Given the description of an element on the screen output the (x, y) to click on. 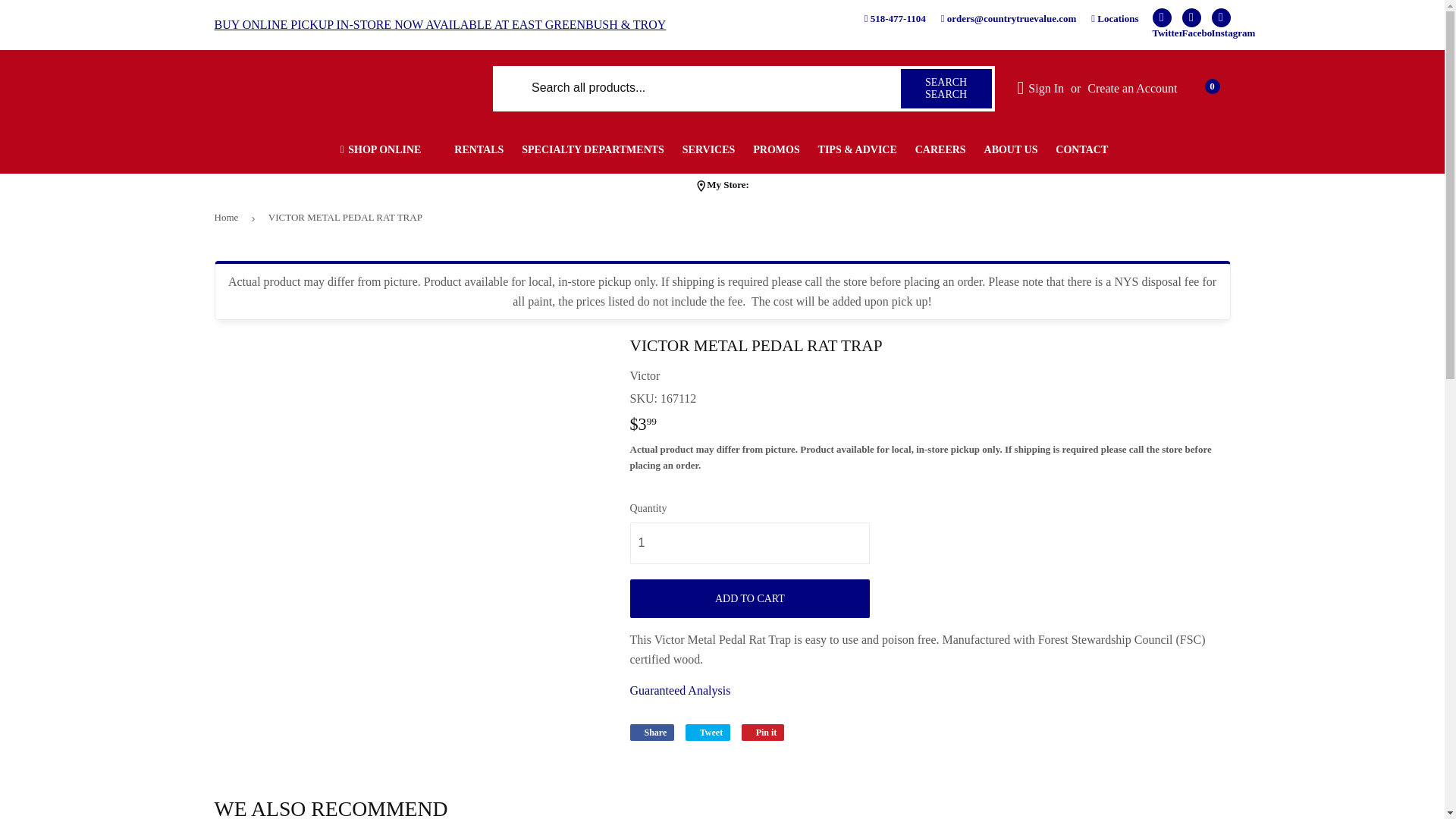
Instagram (1220, 17)
Country True Value on Twitter (1162, 17)
Country True Value on Facebook (1189, 17)
Pin on Pinterest (762, 732)
View all stores (727, 186)
Tweet on Twitter (707, 732)
1 (748, 543)
 518-477-1104 (895, 18)
SEARCH SEARCH (946, 87)
 Locations (1114, 18)
